Given the description of an element on the screen output the (x, y) to click on. 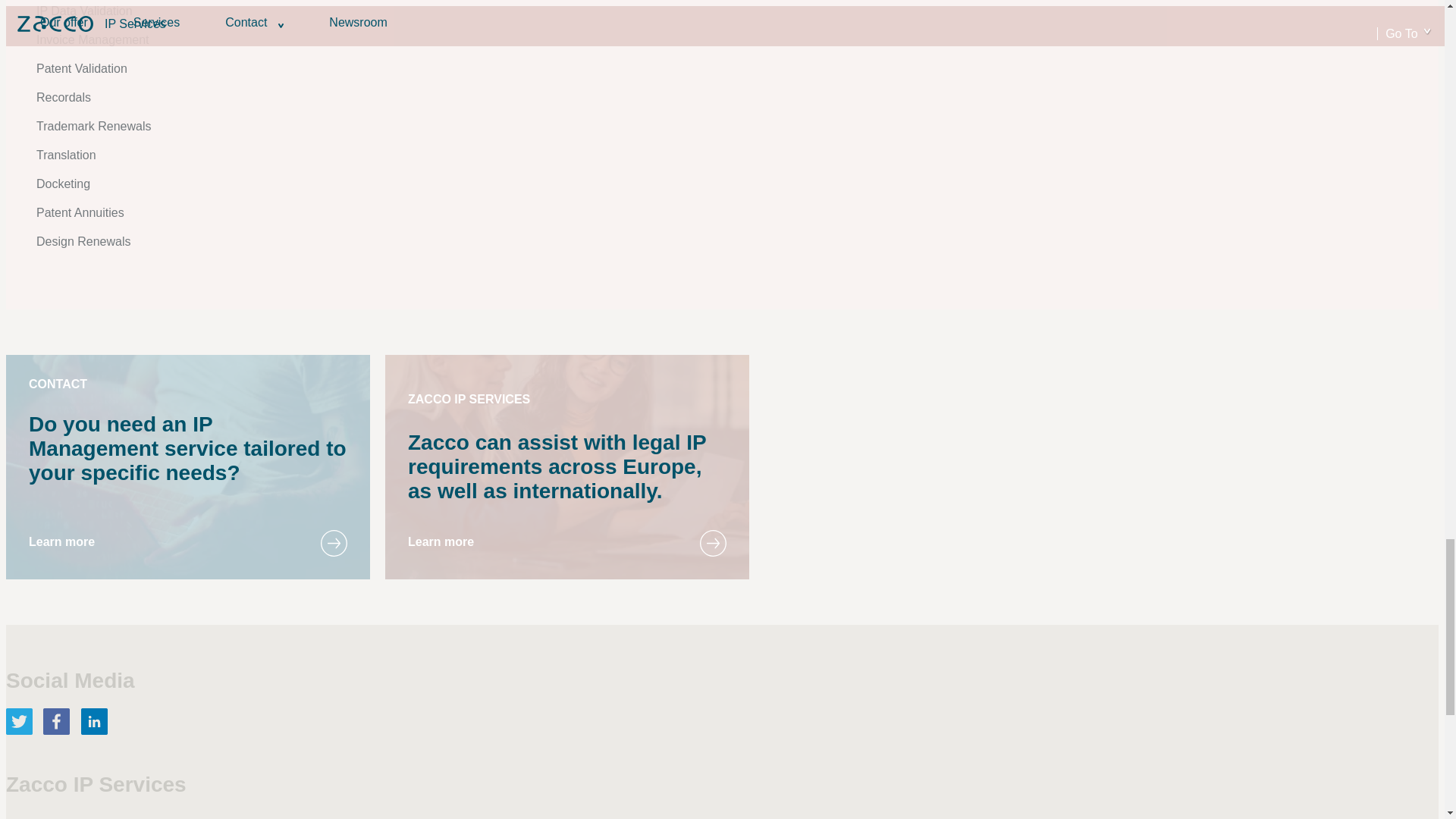
Patent Annuities (79, 212)
Learn more (61, 541)
Translation (66, 154)
Design Renewals (83, 241)
Recordals (63, 97)
Patent Validation (82, 68)
Invoice Management (92, 39)
Trademark Renewals (93, 125)
Learn more (440, 541)
Docketing (63, 183)
IP Data Validation (84, 10)
